Given the description of an element on the screen output the (x, y) to click on. 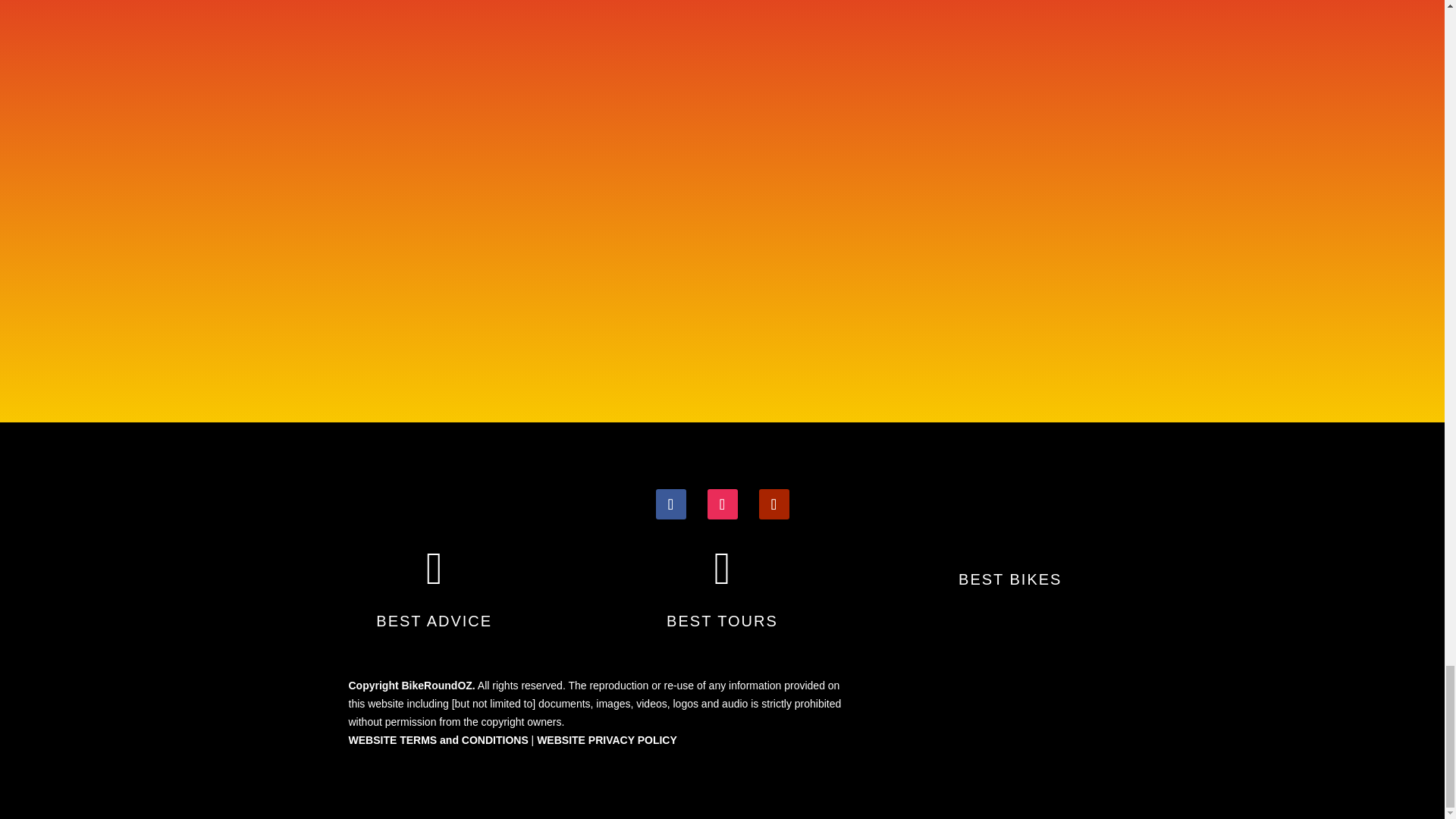
WEBSITE TERMS and CONDITIONS (438, 739)
Follow on Instagram (721, 503)
Follow on Facebook (670, 503)
Follow on Youtube (773, 503)
WEBSITE PRIVACY POLICY (607, 739)
